Given the description of an element on the screen output the (x, y) to click on. 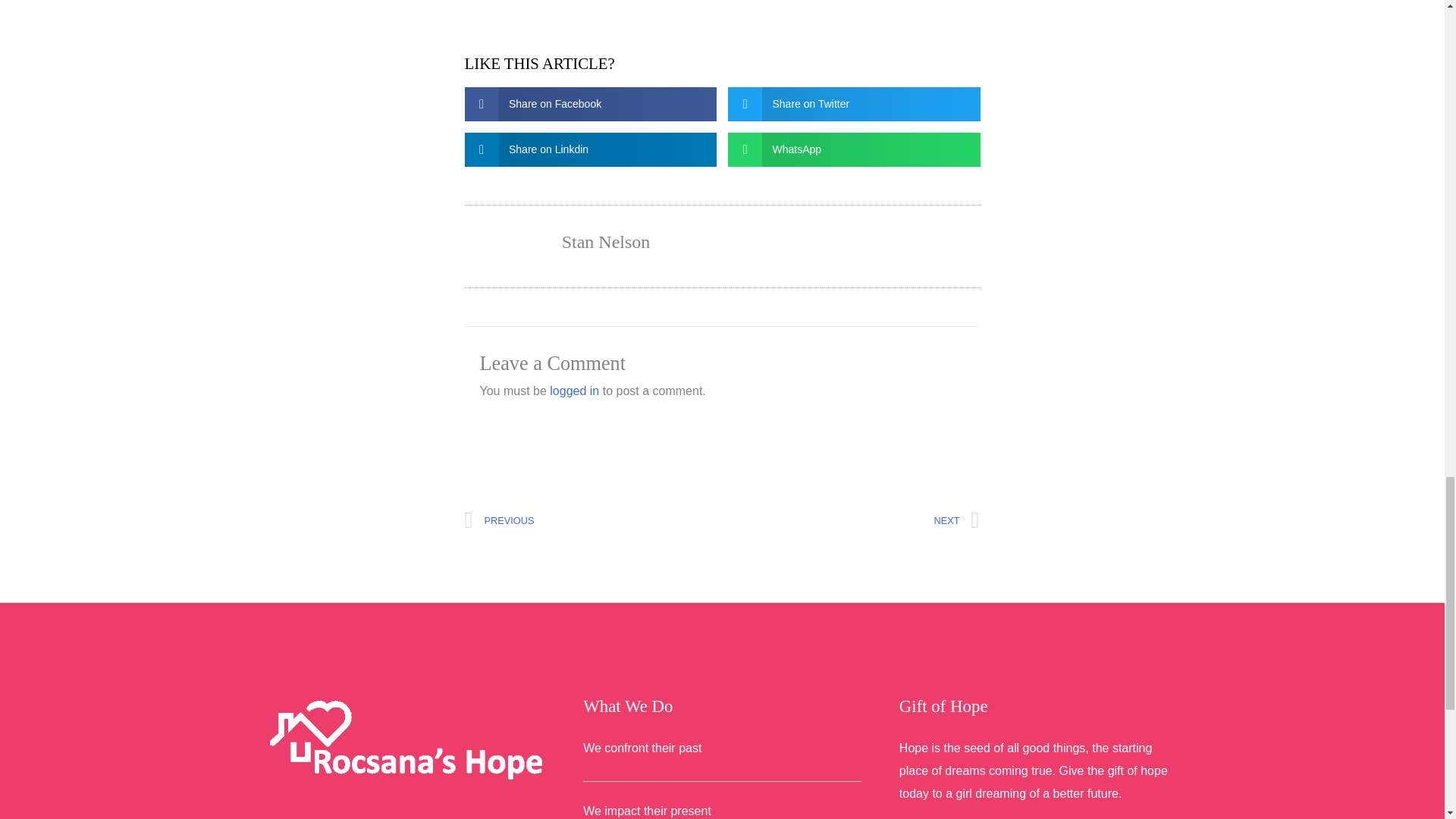
logged in (850, 520)
